Given the description of an element on the screen output the (x, y) to click on. 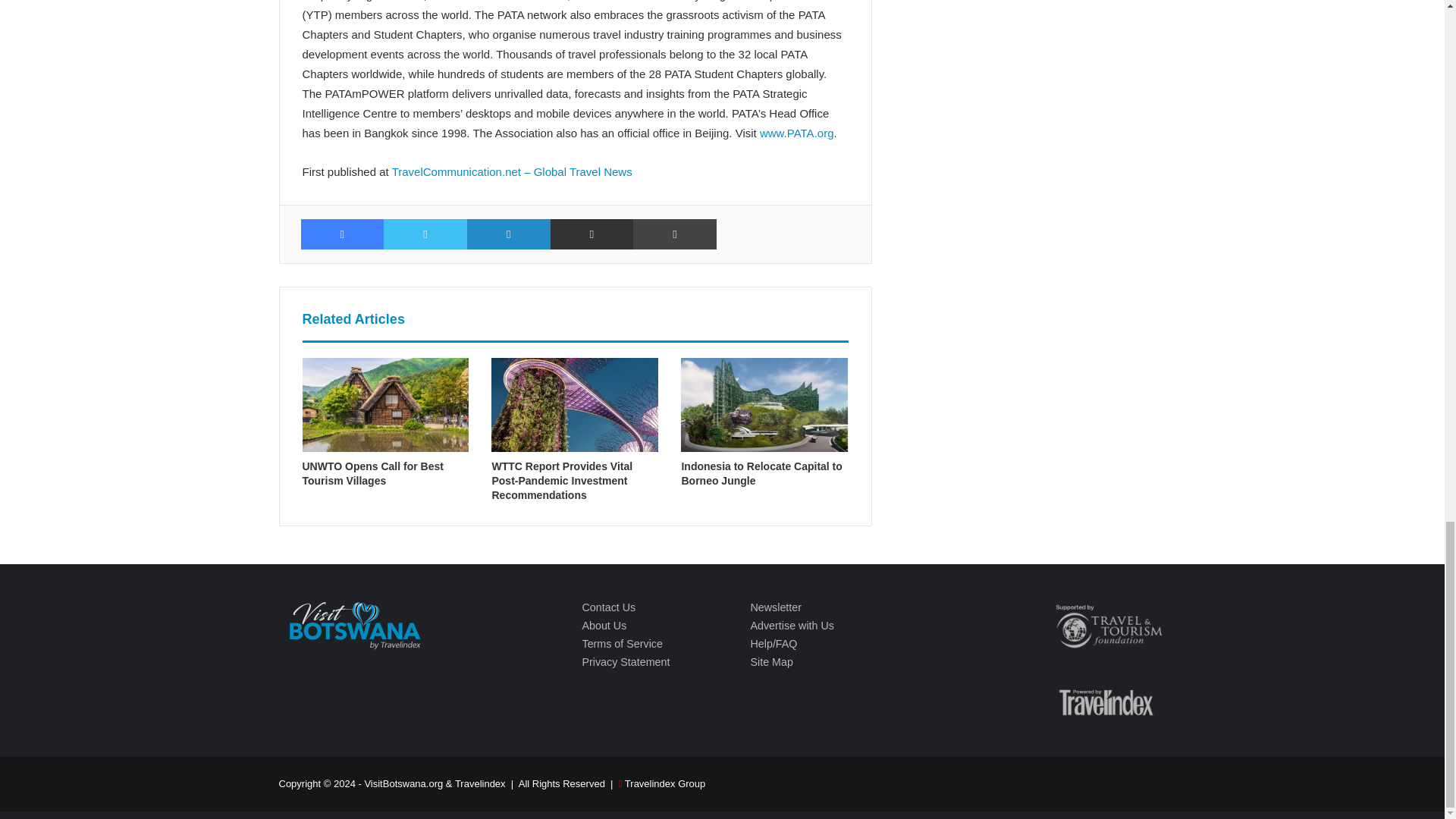
Facebook (341, 234)
Share via Email (591, 234)
Print (674, 234)
Twitter (425, 234)
Share via Email (591, 234)
Site Map (770, 662)
Twitter (425, 234)
Newsletter (775, 607)
www.PATA.org (797, 132)
